Given the description of an element on the screen output the (x, y) to click on. 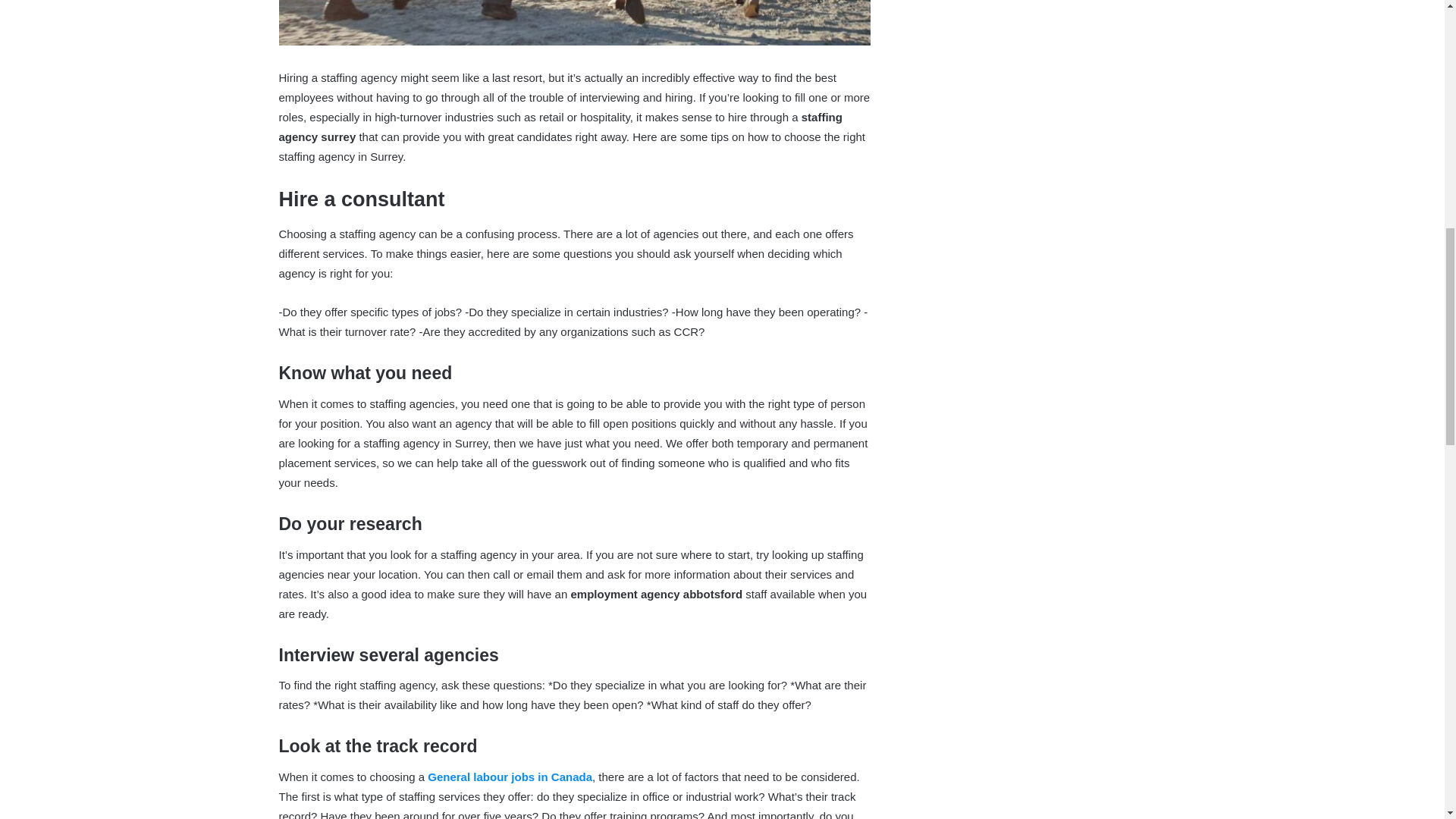
General labour jobs in Canada (510, 776)
